Given the description of an element on the screen output the (x, y) to click on. 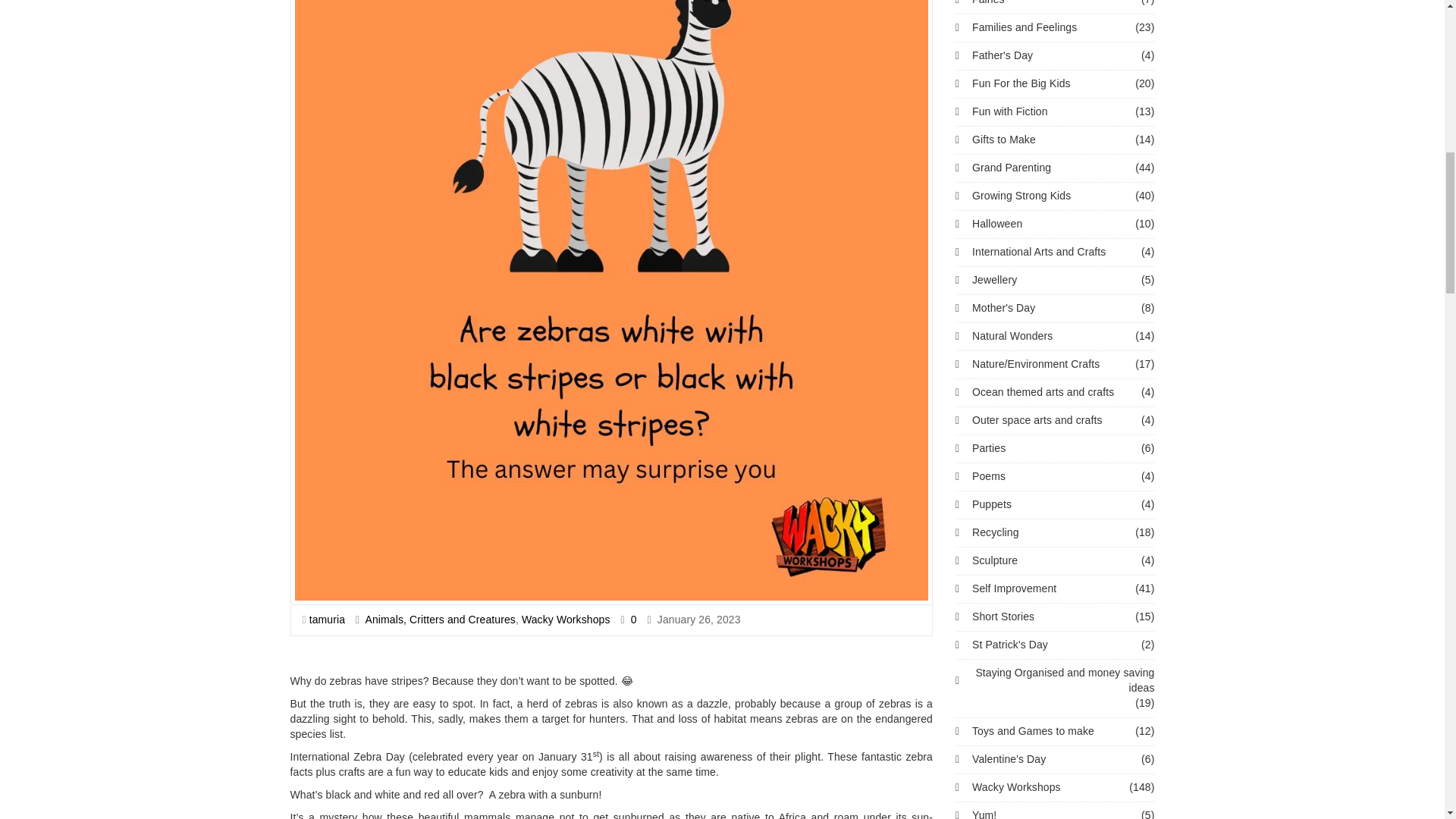
Posts by tamuria (326, 619)
